Given the description of an element on the screen output the (x, y) to click on. 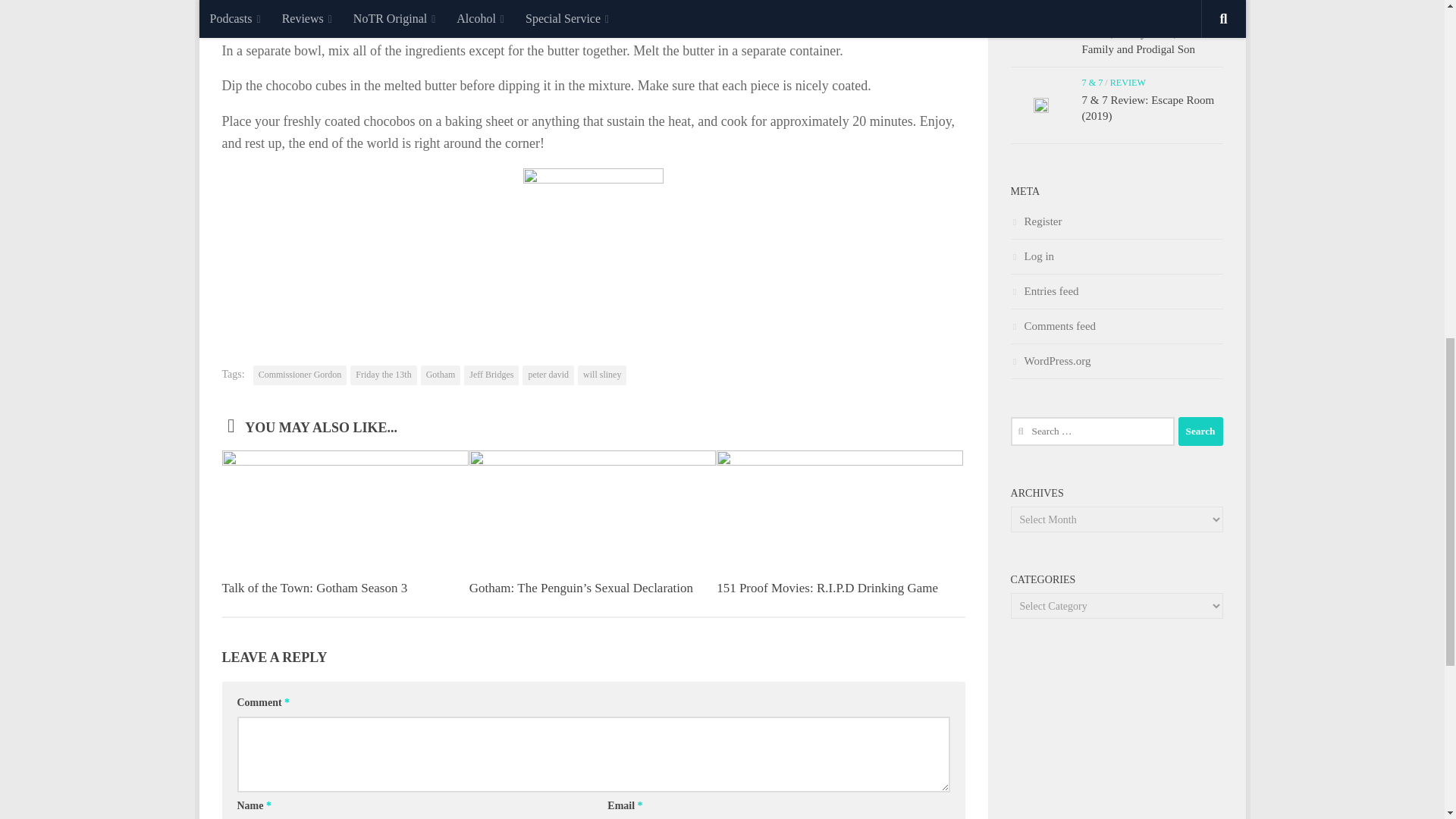
Search (1200, 430)
Search (1200, 430)
